Given the description of an element on the screen output the (x, y) to click on. 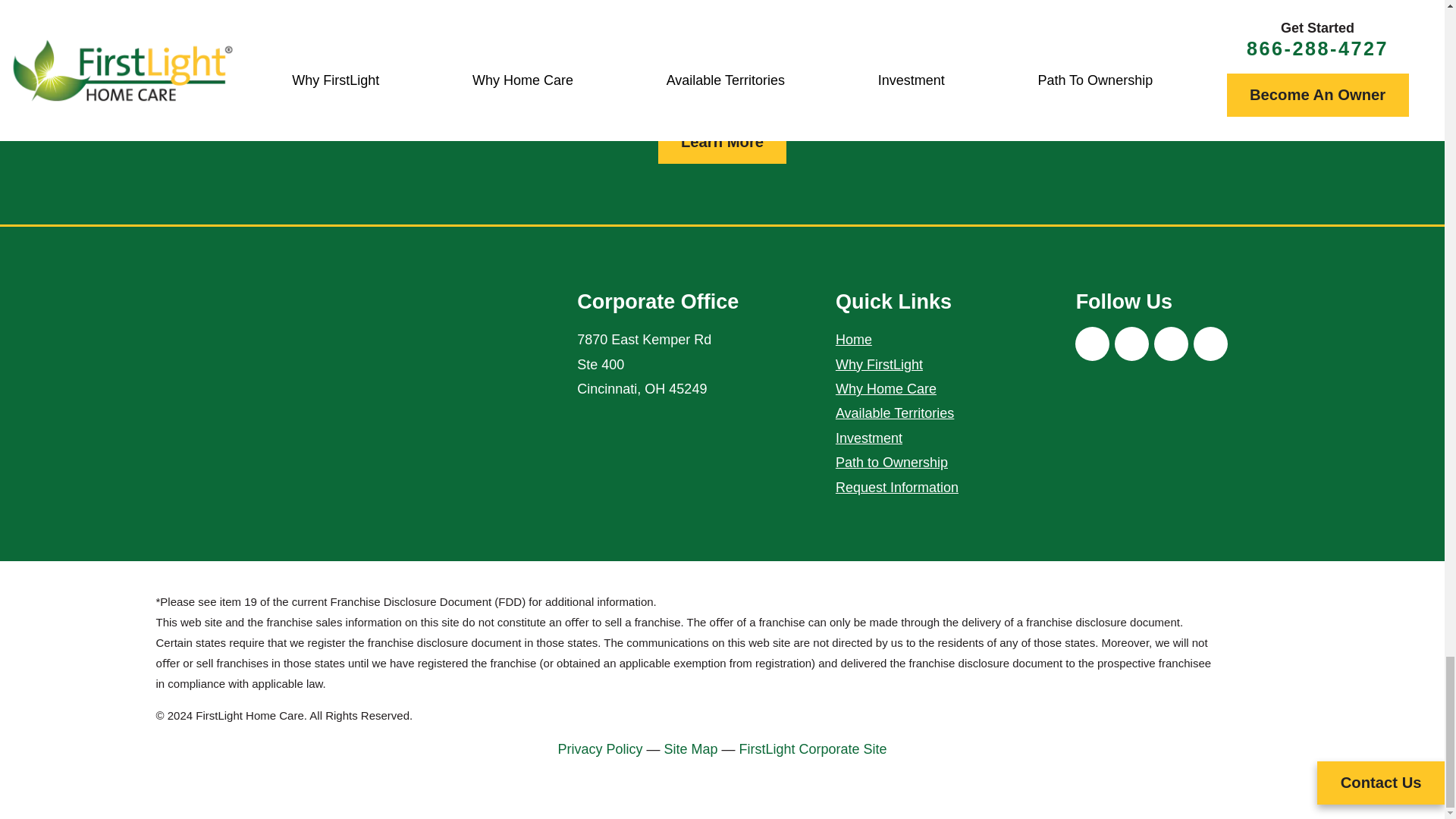
LinkedIn (1210, 343)
Facebook (1092, 343)
YouTube (1171, 343)
Twitter (1131, 343)
